Given the description of an element on the screen output the (x, y) to click on. 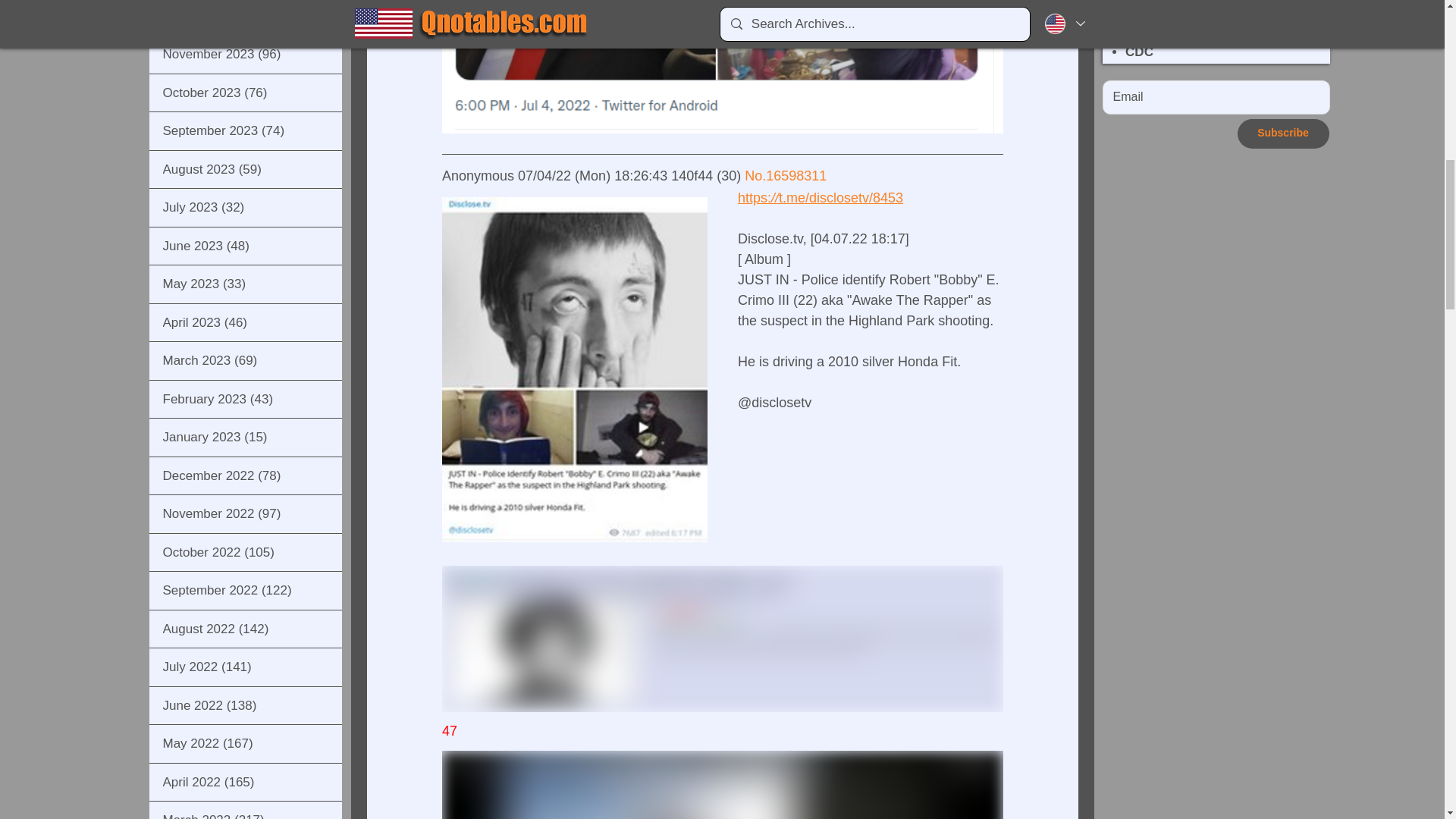
https: (753, 197)
No. (754, 175)
16598311 (796, 175)
